Given the description of an element on the screen output the (x, y) to click on. 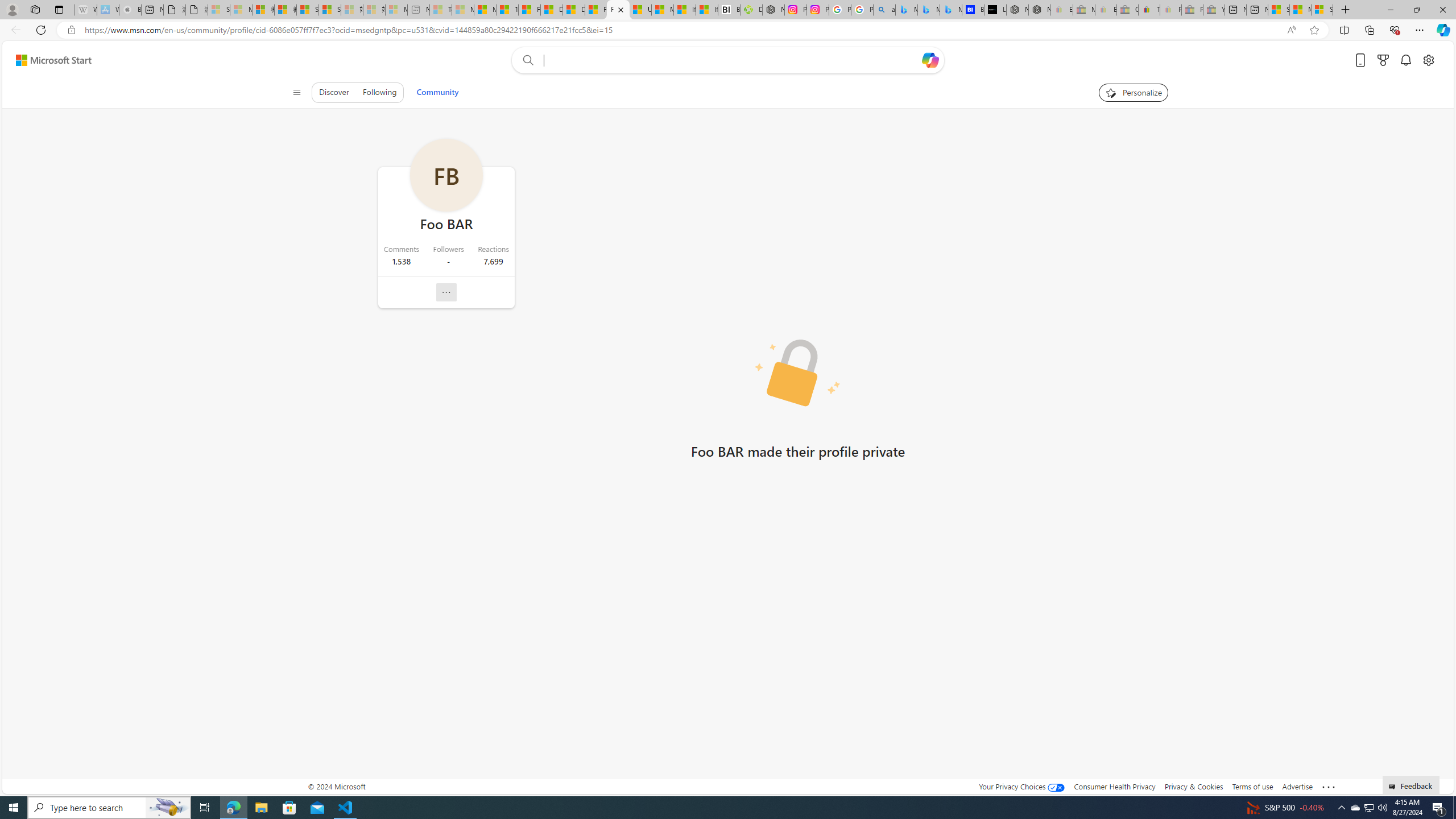
Privacy & Cookies (1193, 785)
Descarga Driver Updater (751, 9)
Press Room - eBay Inc. - Sleeping (1192, 9)
Yard, Garden & Outdoor Living - Sleeping (1214, 9)
Marine life - MSN - Sleeping (462, 9)
Privacy & Cookies (1193, 786)
